Given the description of an element on the screen output the (x, y) to click on. 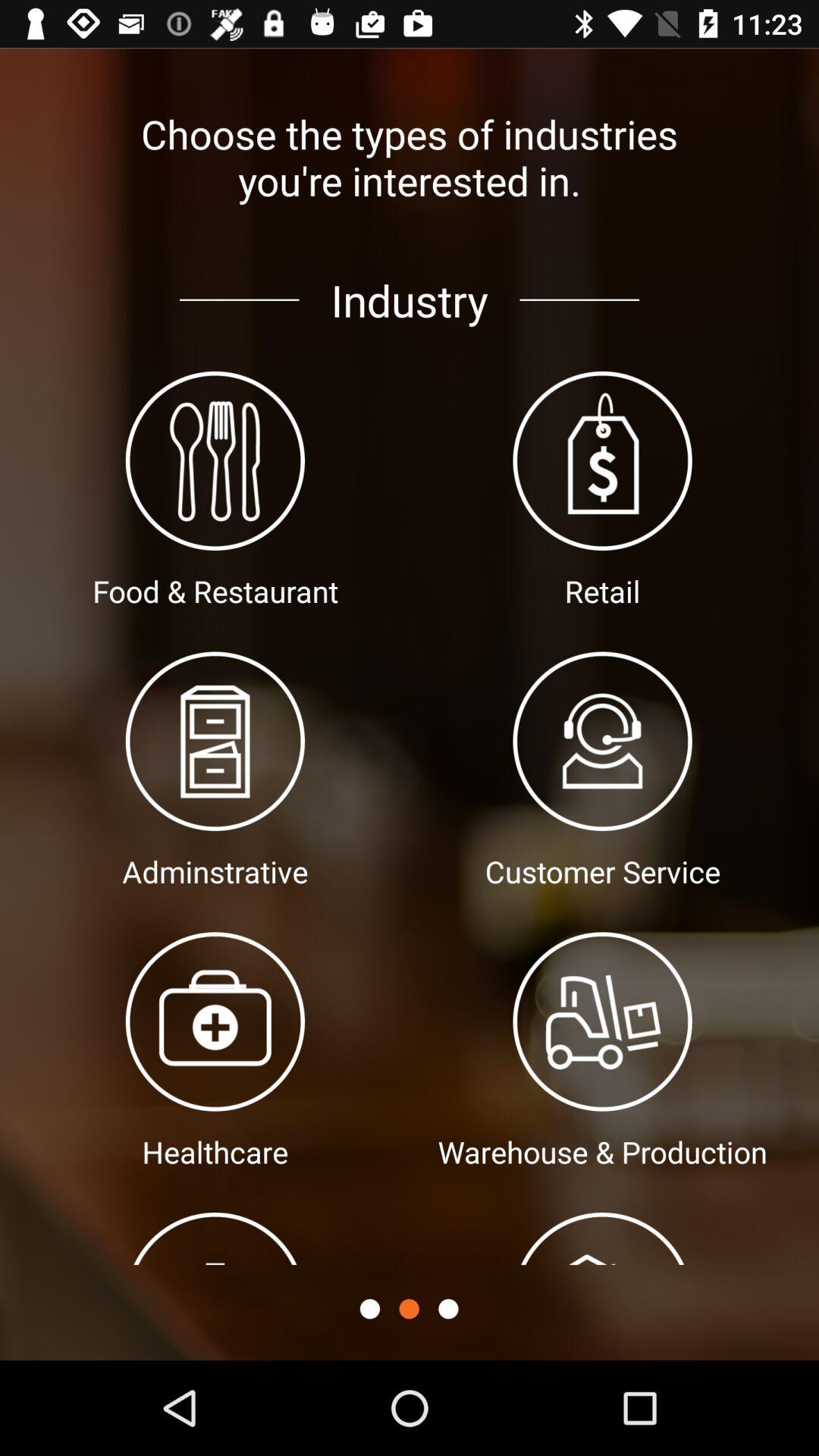
turn off icon below industry item (369, 1308)
